Given the description of an element on the screen output the (x, y) to click on. 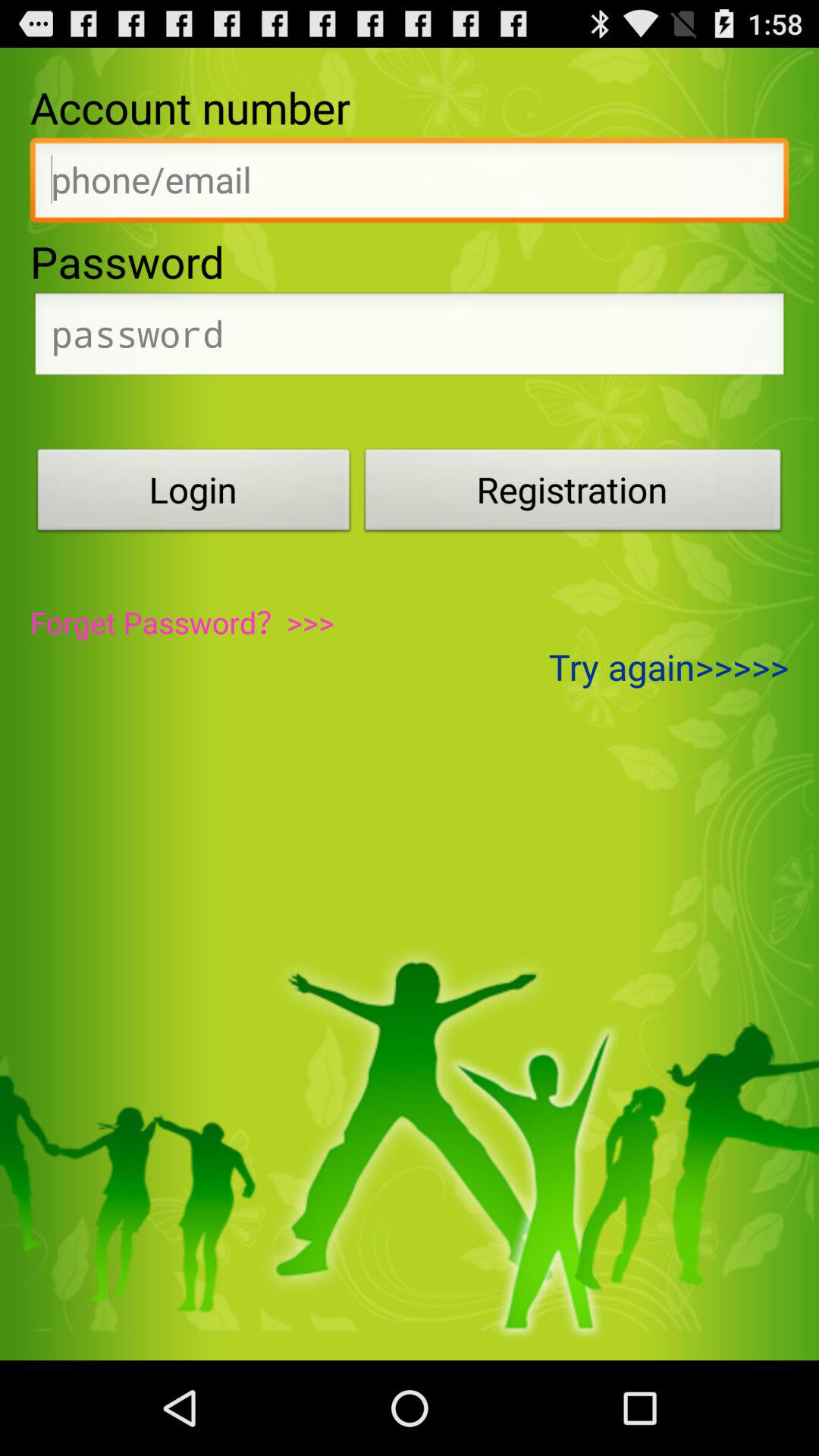
press login (193, 494)
